Given the description of an element on the screen output the (x, y) to click on. 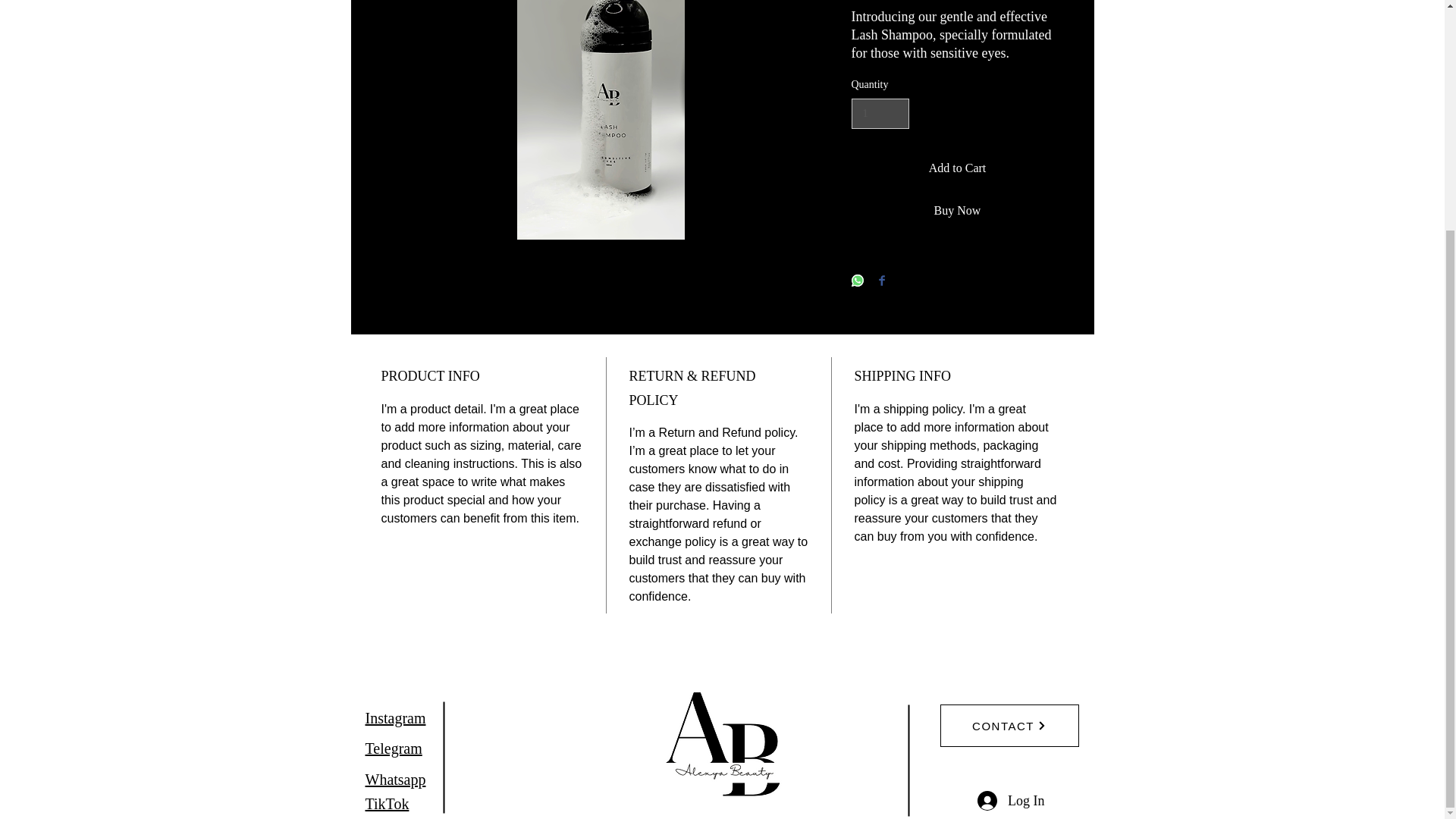
Whatsapp (395, 779)
CONTACT (1009, 725)
Buy Now (956, 210)
Instagram (395, 718)
1 (879, 113)
Log In (1010, 801)
Add to Cart (956, 168)
Telegram (393, 748)
TikTok (387, 803)
